Given the description of an element on the screen output the (x, y) to click on. 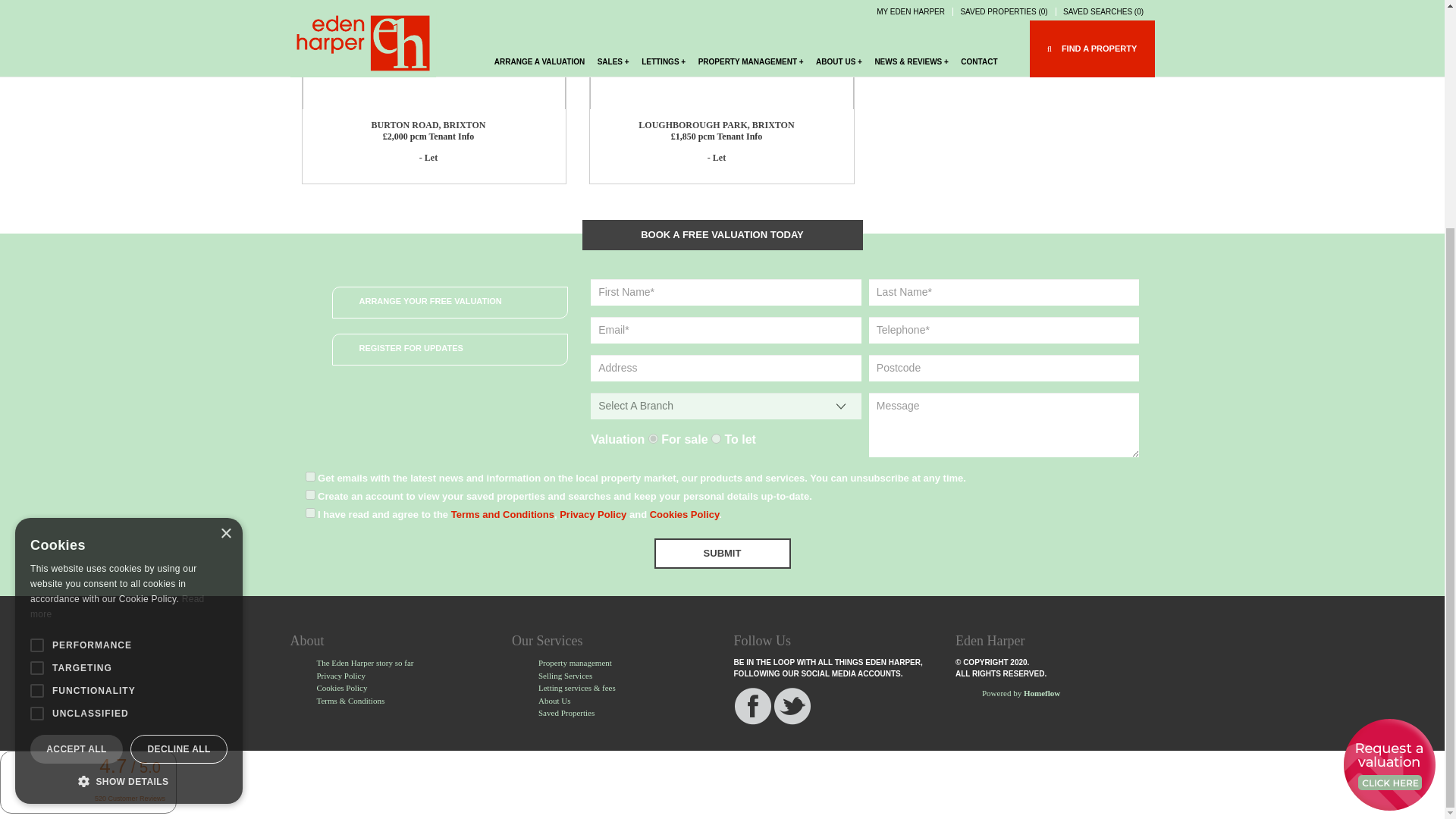
sales (652, 438)
on (309, 476)
on (309, 512)
lettings (715, 438)
Submit (721, 553)
on (309, 494)
